Given the description of an element on the screen output the (x, y) to click on. 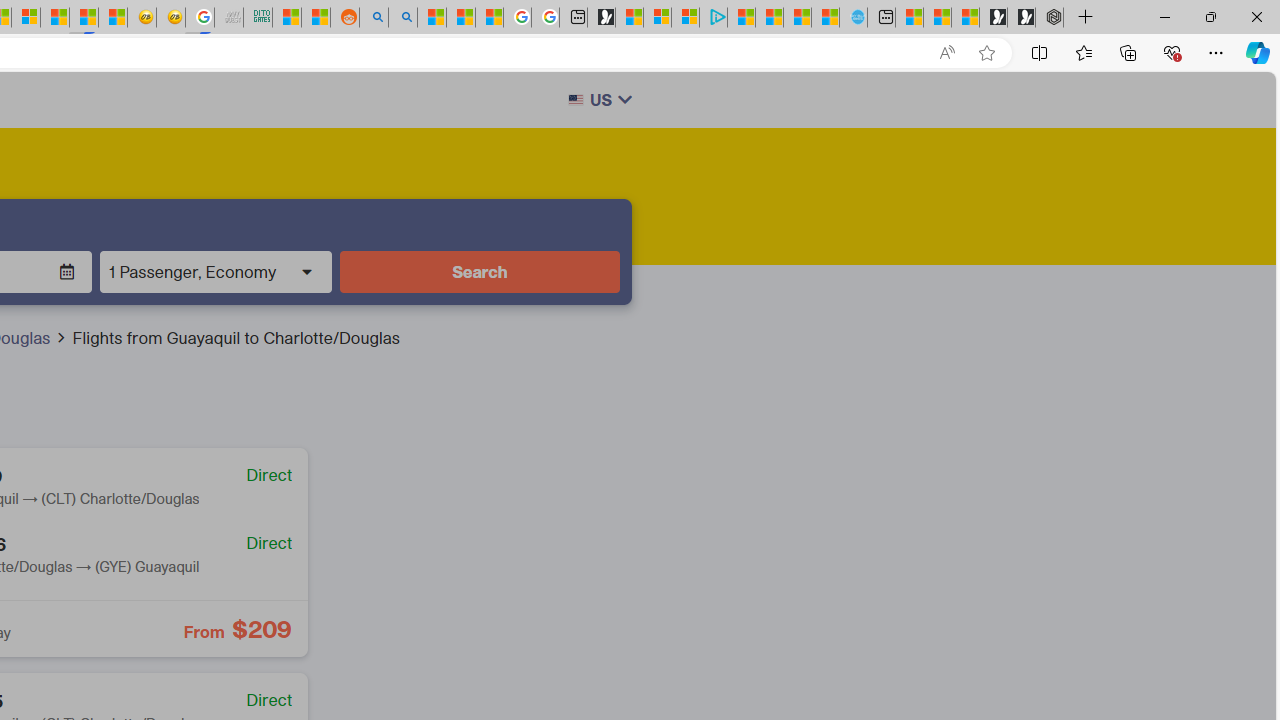
Flights from Guayaquil to Charlotte/Douglas (235, 337)
Utah sues federal government - Search (403, 17)
